Given the description of an element on the screen output the (x, y) to click on. 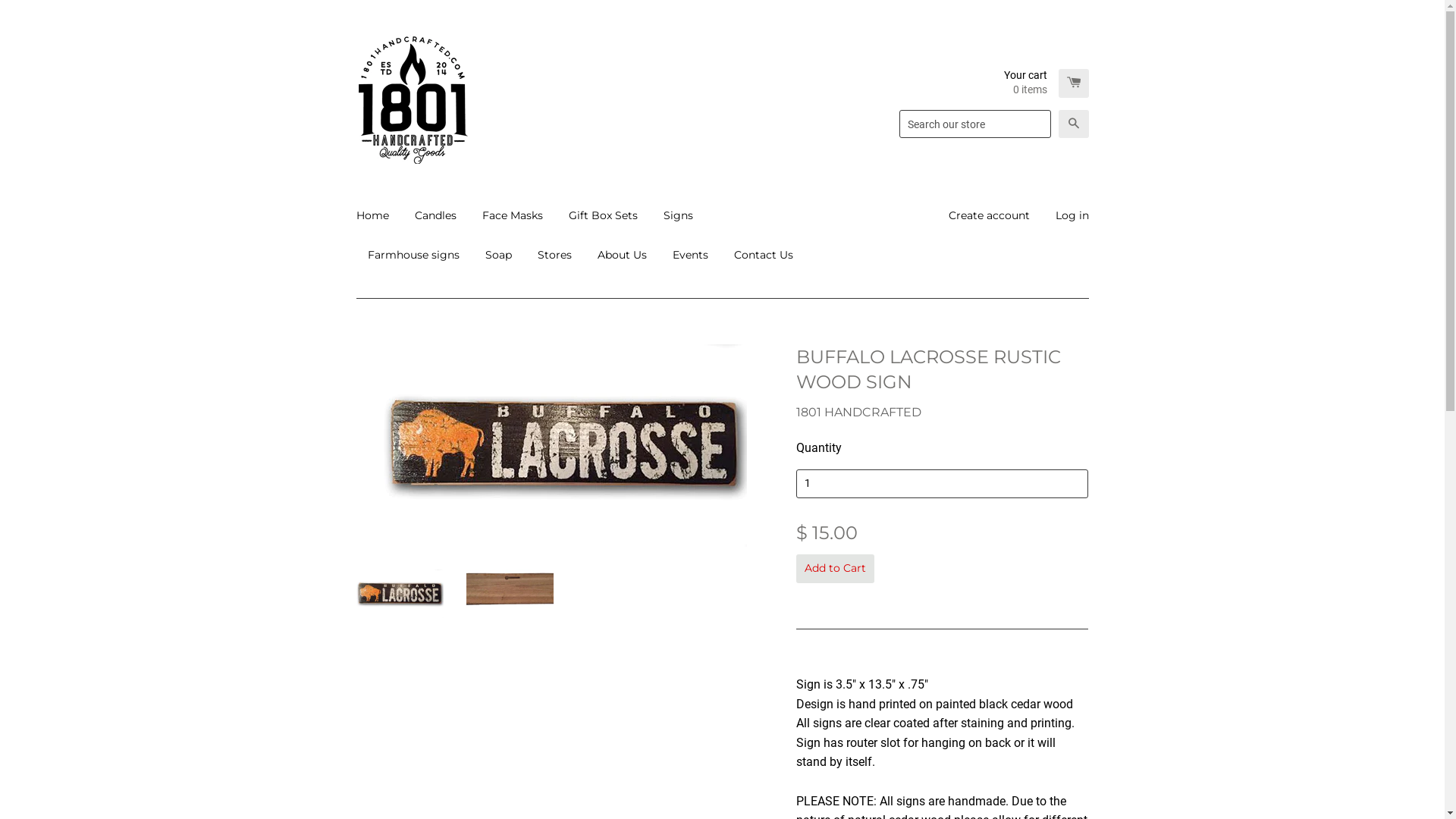
Signs Element type: text (678, 215)
Home Element type: text (378, 215)
Farmhouse signs Element type: text (413, 254)
Search Element type: text (1073, 123)
Face Masks Element type: text (511, 215)
Add to Cart Element type: text (835, 568)
Log in Element type: text (1065, 215)
About Us Element type: text (621, 254)
Candles Element type: text (435, 215)
Events Element type: text (690, 254)
Soap Element type: text (497, 254)
Contact Us Element type: text (756, 254)
Your cart
0 items Element type: text (1046, 83)
Create account Element type: text (989, 215)
Gift Box Sets Element type: text (602, 215)
Stores Element type: text (554, 254)
